Given the description of an element on the screen output the (x, y) to click on. 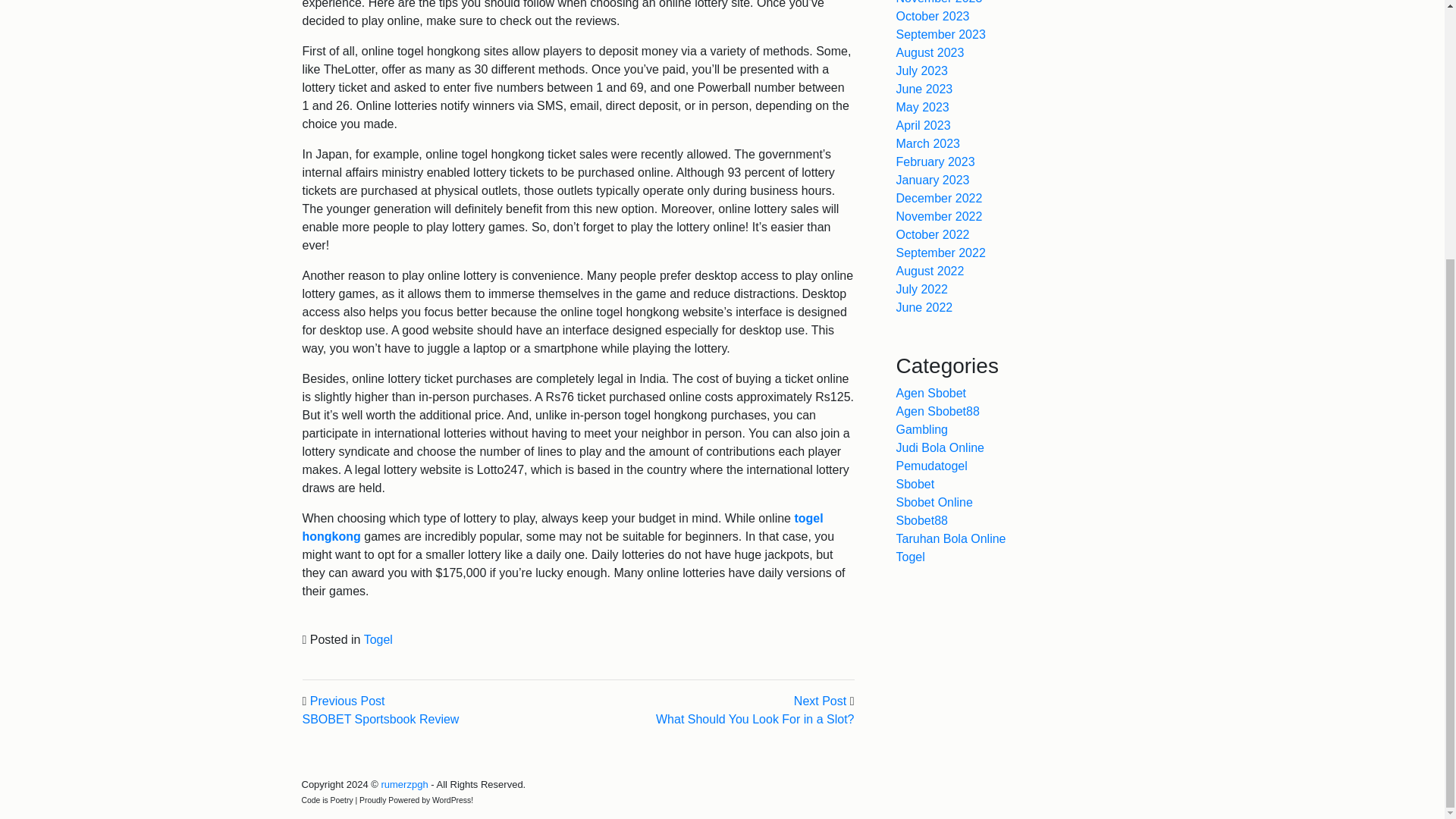
December 2022 (939, 197)
November 2023 (939, 2)
October 2023 (932, 15)
SBOBET Sportsbook Review (379, 718)
May 2023 (922, 106)
April 2023 (923, 124)
September 2022 (940, 252)
February 2023 (935, 161)
Agen Sbobet (931, 392)
January 2023 (932, 179)
